Given the description of an element on the screen output the (x, y) to click on. 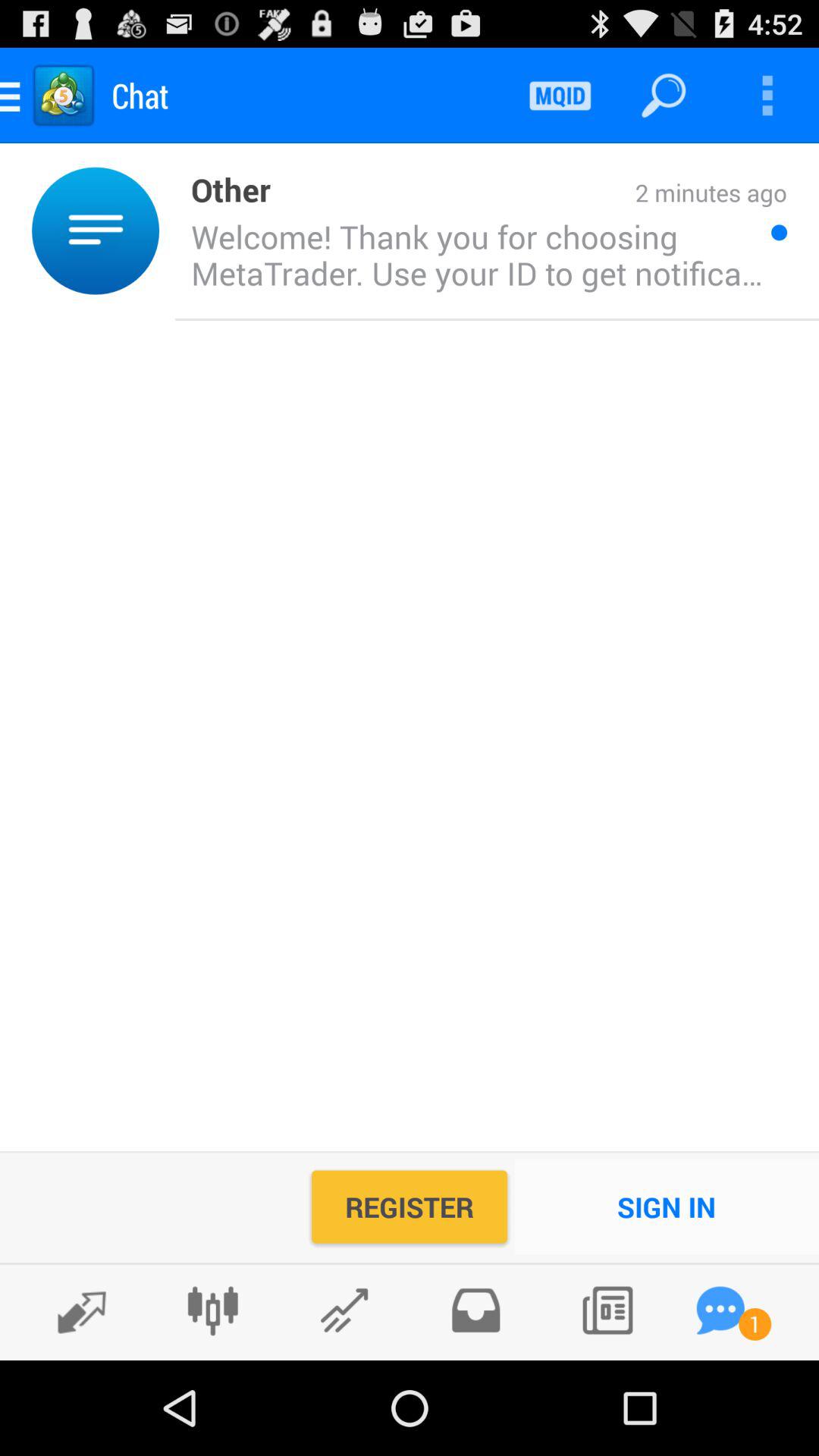
scroll to welcome thank you (473, 253)
